Given the description of an element on the screen output the (x, y) to click on. 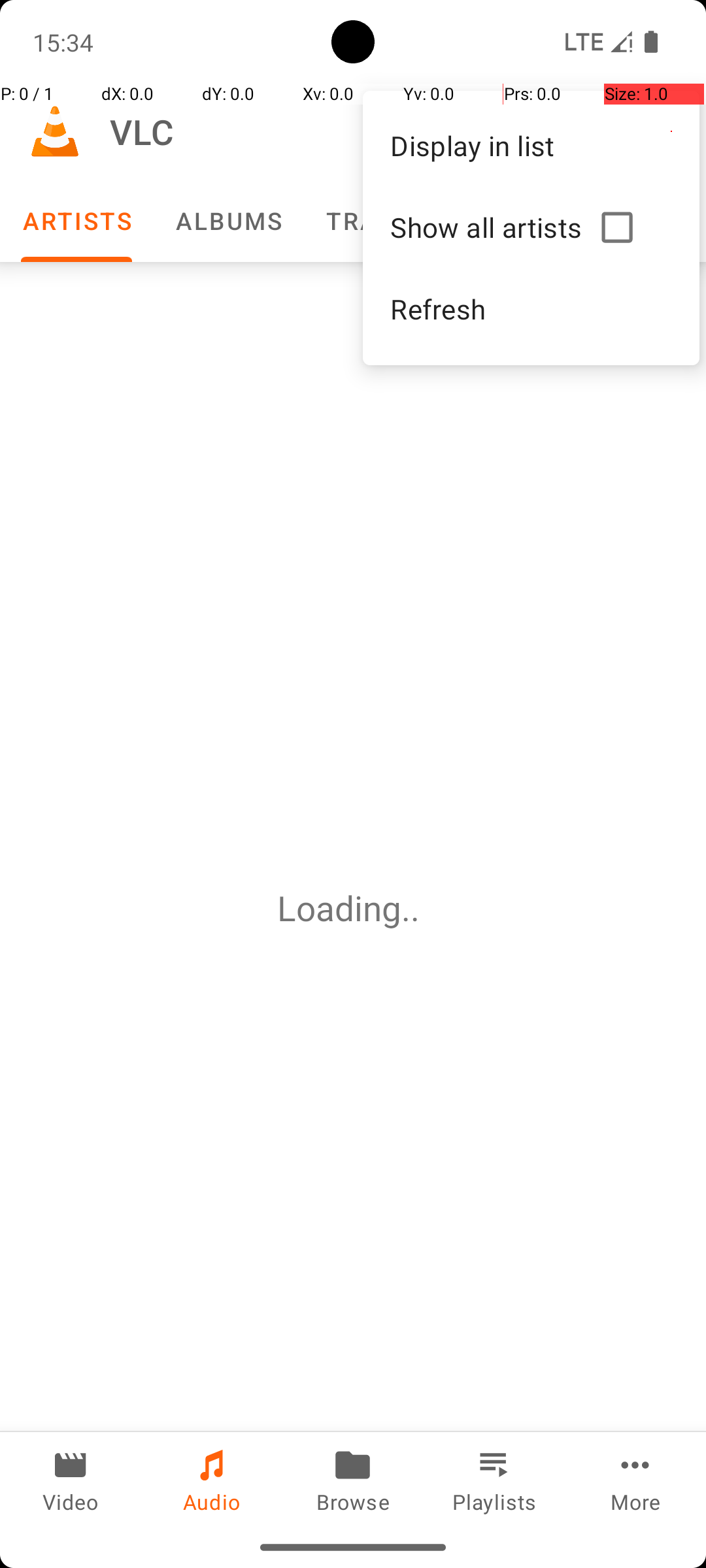
Display in list Element type: android.widget.TextView (531, 144)
Show all artists Element type: android.widget.TextView (489, 226)
Refresh Element type: android.widget.TextView (531, 308)
